Given the description of an element on the screen output the (x, y) to click on. 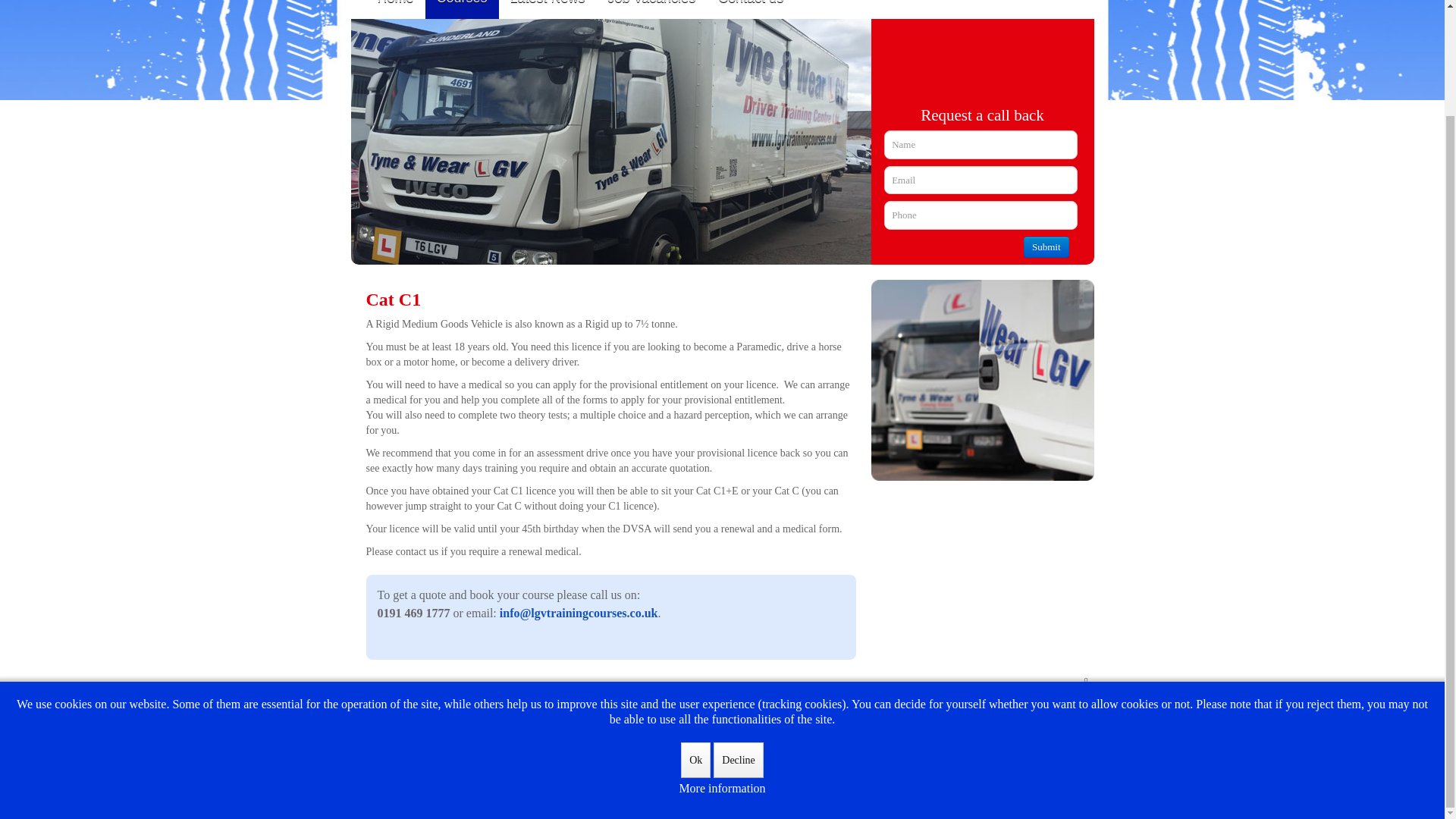
Contact us (750, 9)
Job Vacancies (651, 9)
Latest News (547, 9)
Submit (1045, 246)
Submit (1045, 246)
Home (395, 9)
WAMITAB (924, 734)
Courses (462, 9)
